Given the description of an element on the screen output the (x, y) to click on. 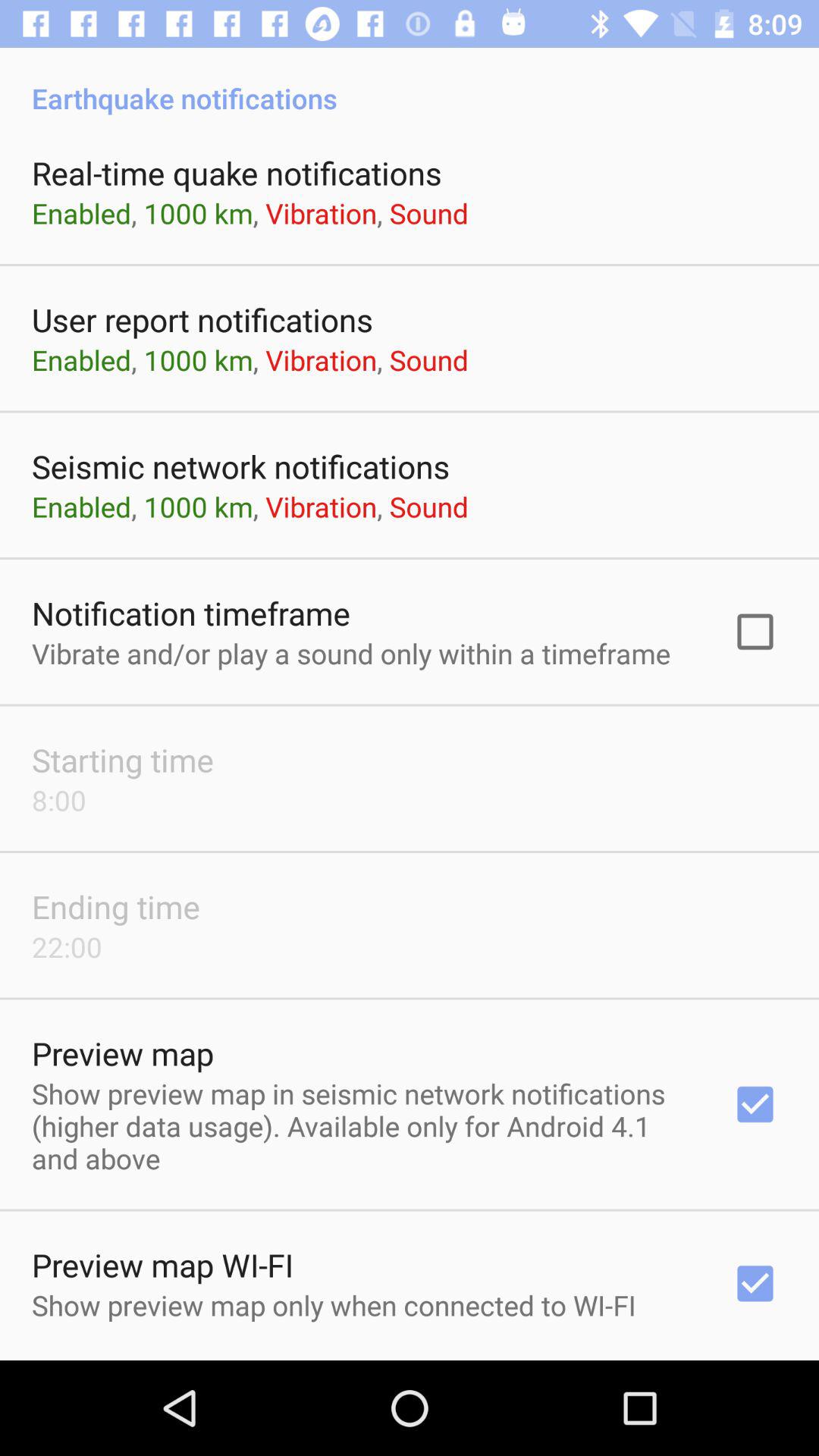
jump until the notification timeframe icon (190, 612)
